Given the description of an element on the screen output the (x, y) to click on. 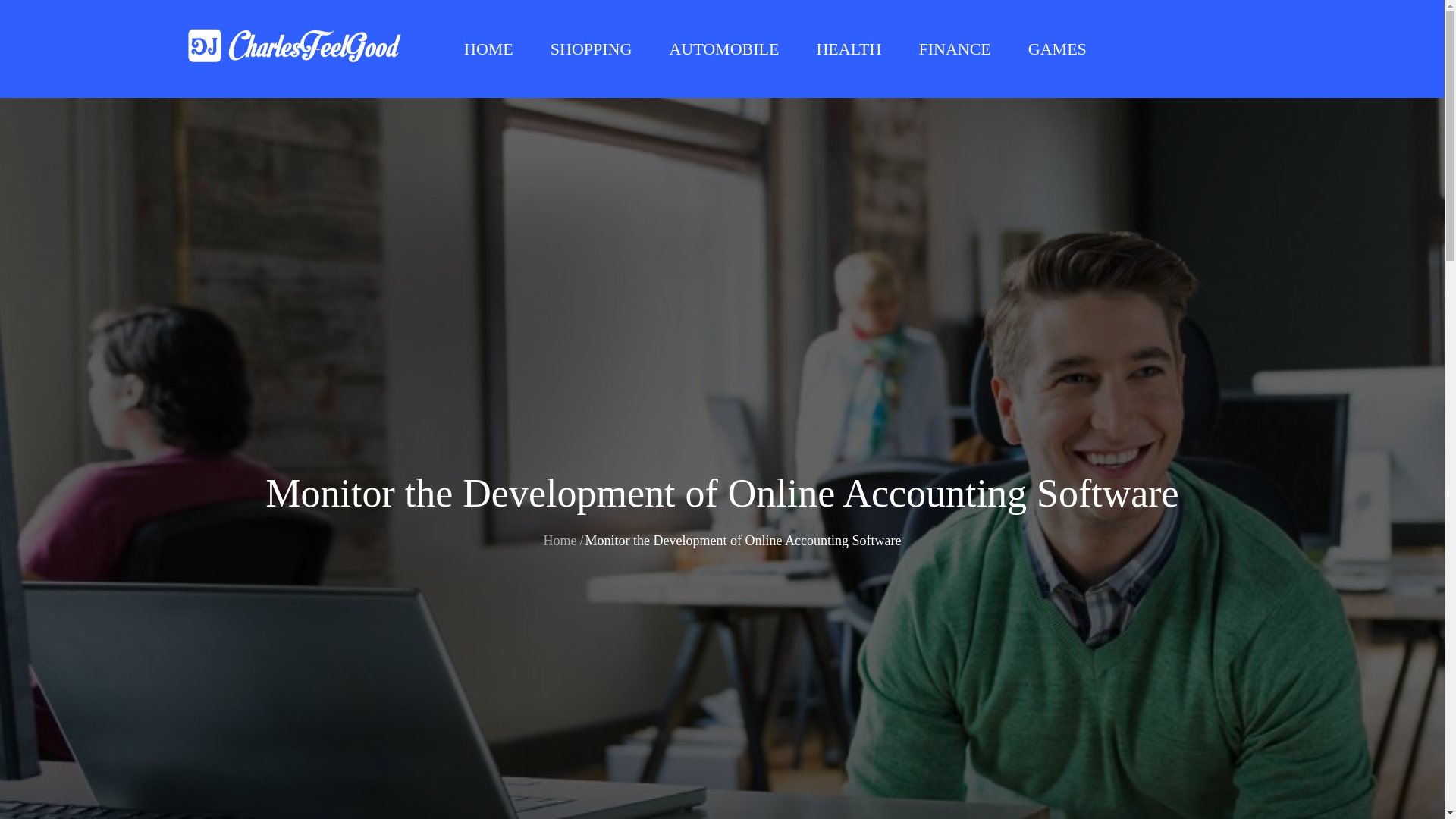
HOME (488, 48)
AUTOMOBILE (723, 48)
FINANCE (953, 48)
Dj Charles Feel Good (527, 60)
Home (559, 540)
HEALTH (847, 48)
GAMES (1057, 48)
SHOPPING (591, 48)
